Given the description of an element on the screen output the (x, y) to click on. 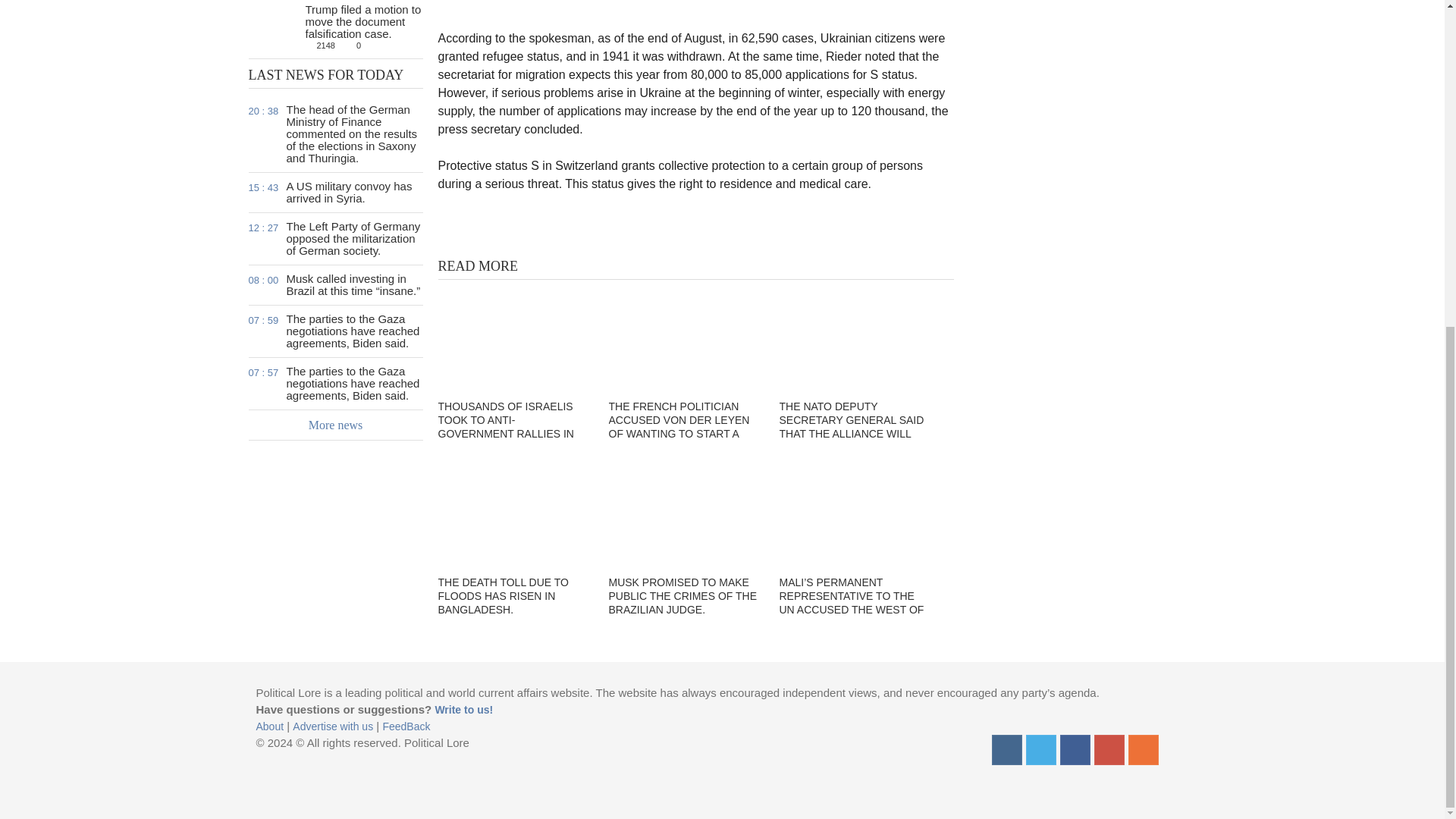
Twitter (1040, 749)
More news (335, 425)
Facebook (335, 192)
The death toll due to floods has risen in Bangladesh. (1074, 749)
